Given the description of an element on the screen output the (x, y) to click on. 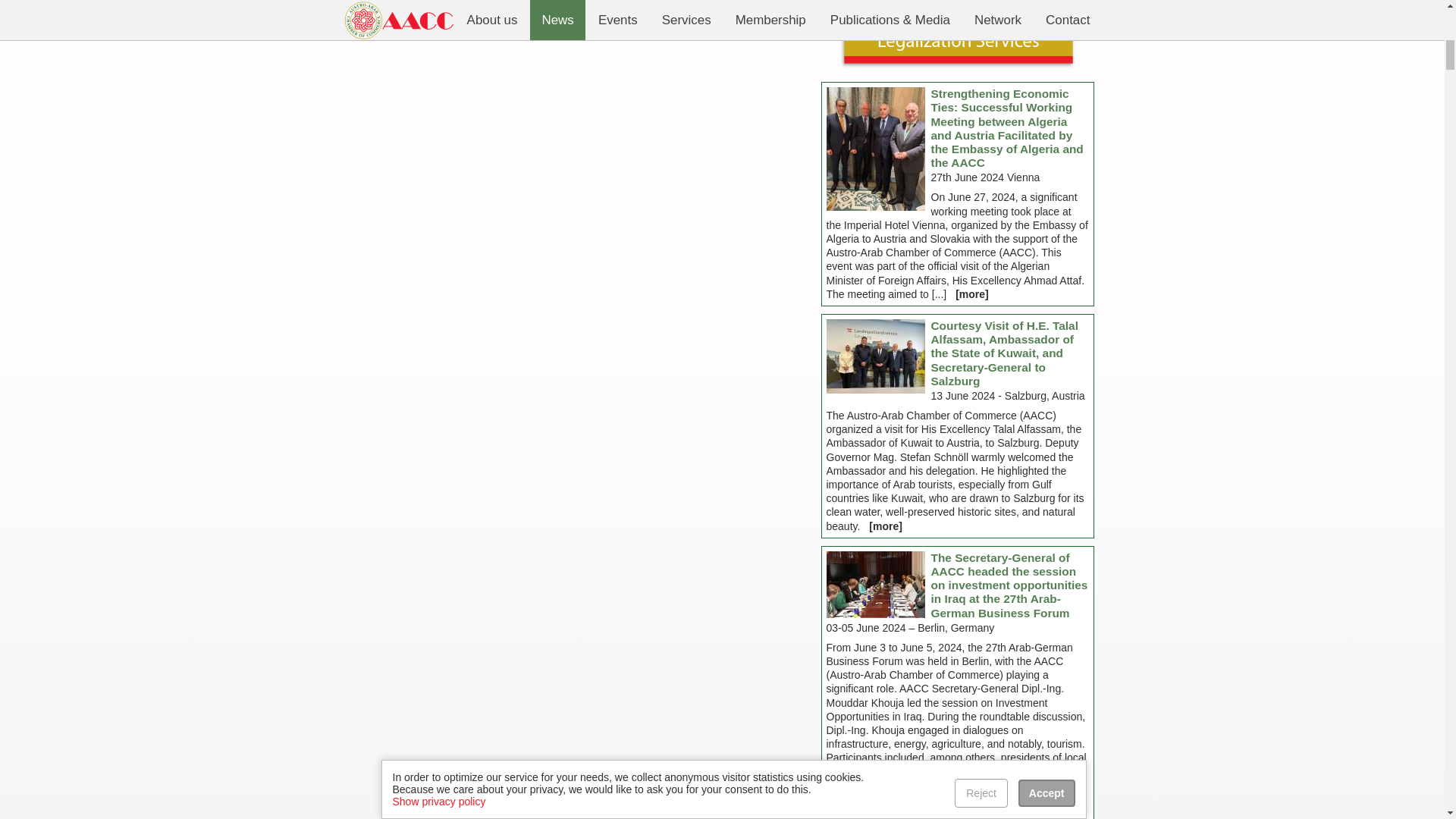
Services (957, 64)
